Given the description of an element on the screen output the (x, y) to click on. 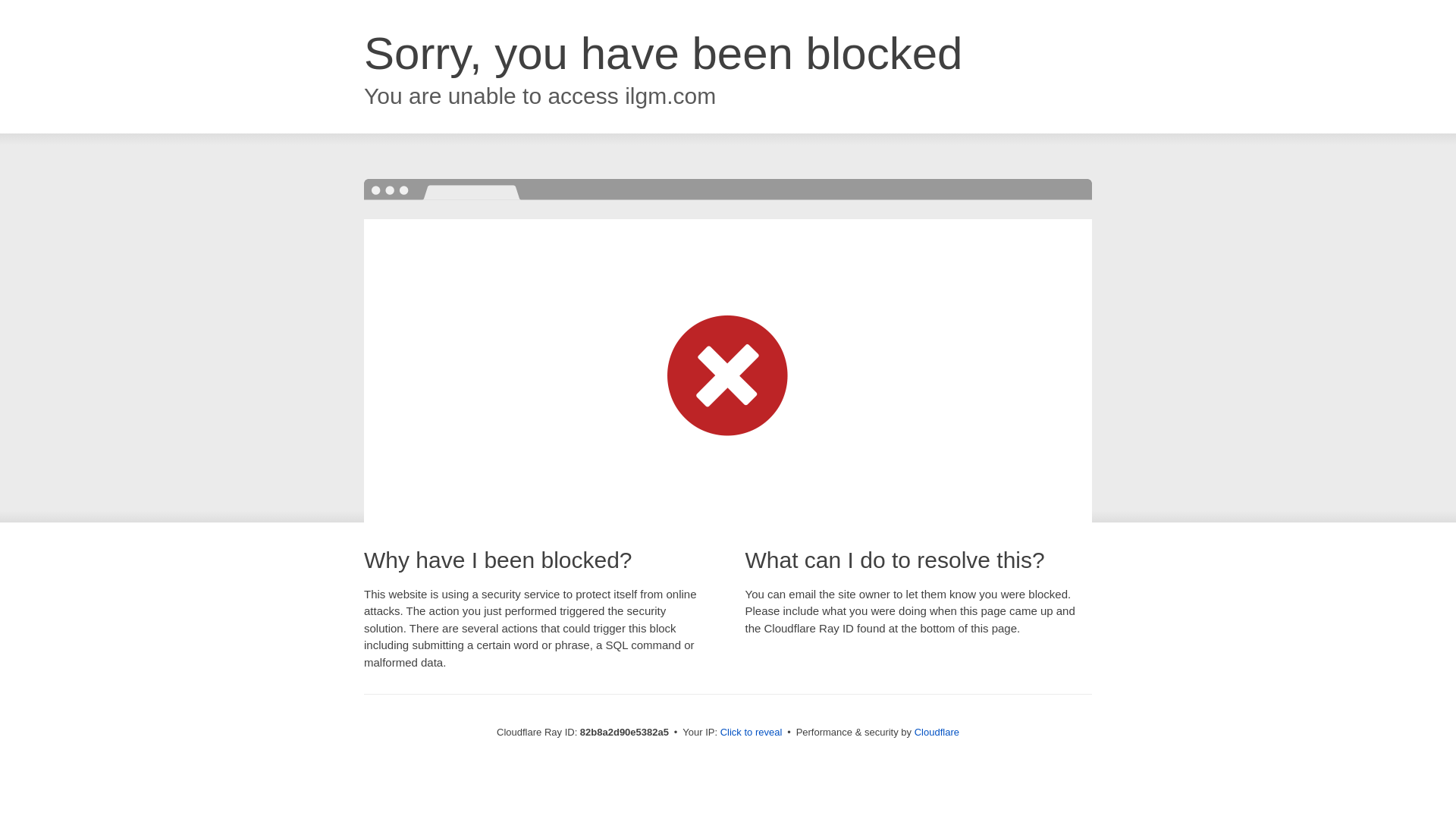
Click to reveal Element type: text (751, 732)
Cloudflare Element type: text (936, 731)
